Given the description of an element on the screen output the (x, y) to click on. 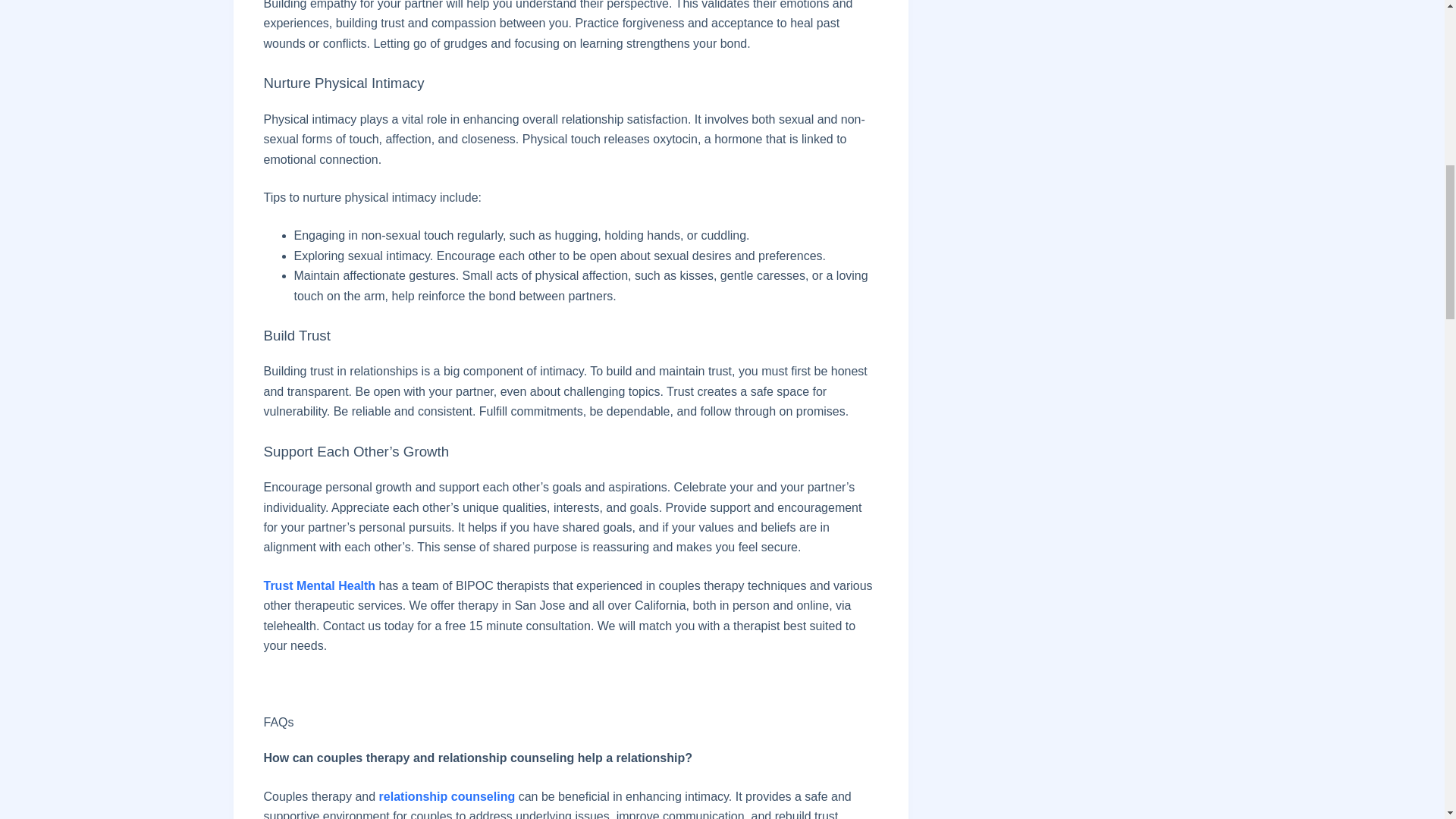
relationship counseling (446, 796)
Trust Mental Health (319, 585)
